Given the description of an element on the screen output the (x, y) to click on. 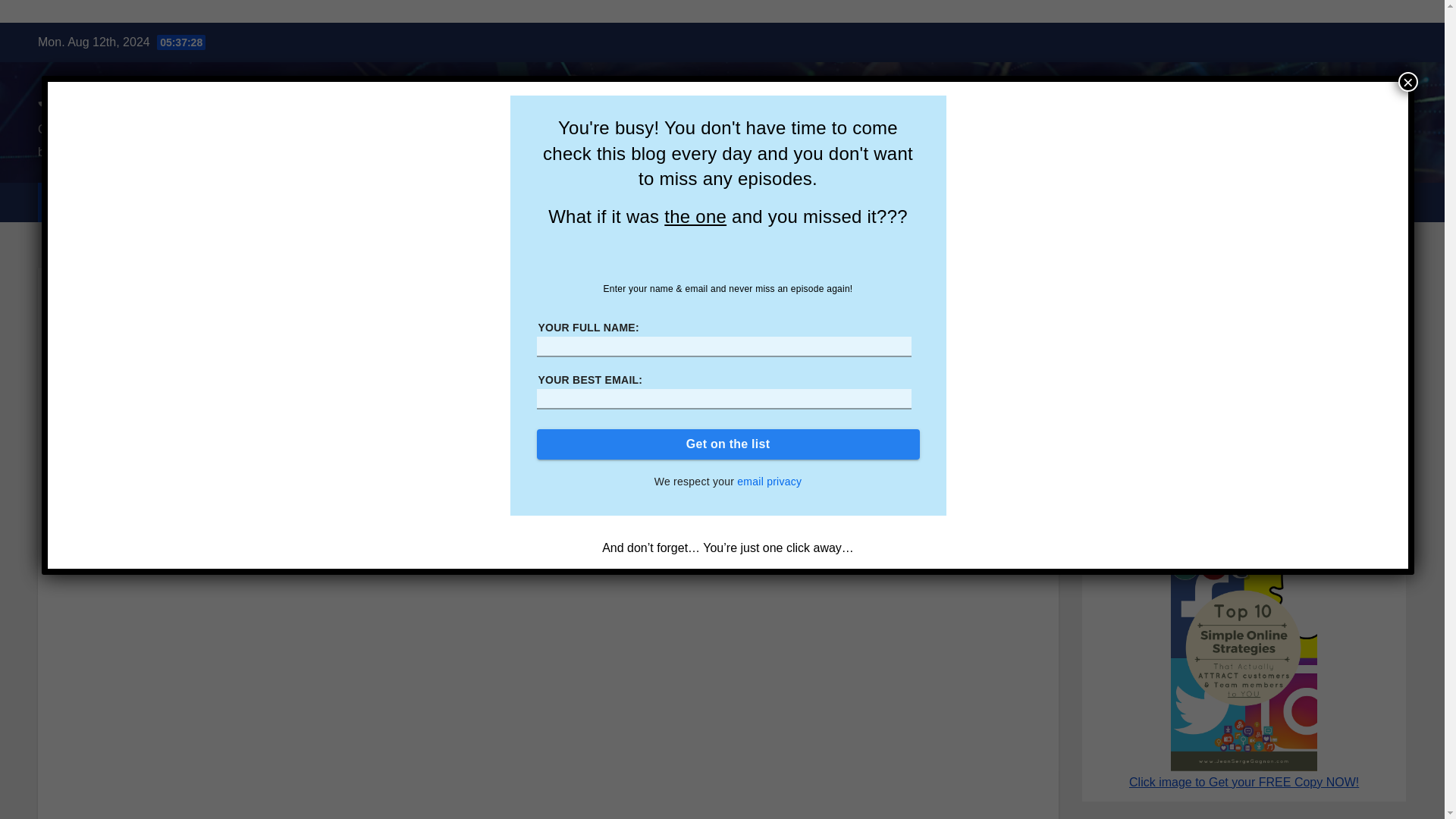
Work With JS (242, 201)
Contact Me (130, 201)
Contact (705, 201)
SOCIAL MEDIA TIPS (950, 201)
COURSE INCOME SECRETS (146, 295)
COACHING PROGRAMS (580, 201)
Work With JS (812, 201)
WORK WITH JS (812, 201)
Jean-Serge Gagnon (148, 97)
CONTACT ME (130, 201)
